Given the description of an element on the screen output the (x, y) to click on. 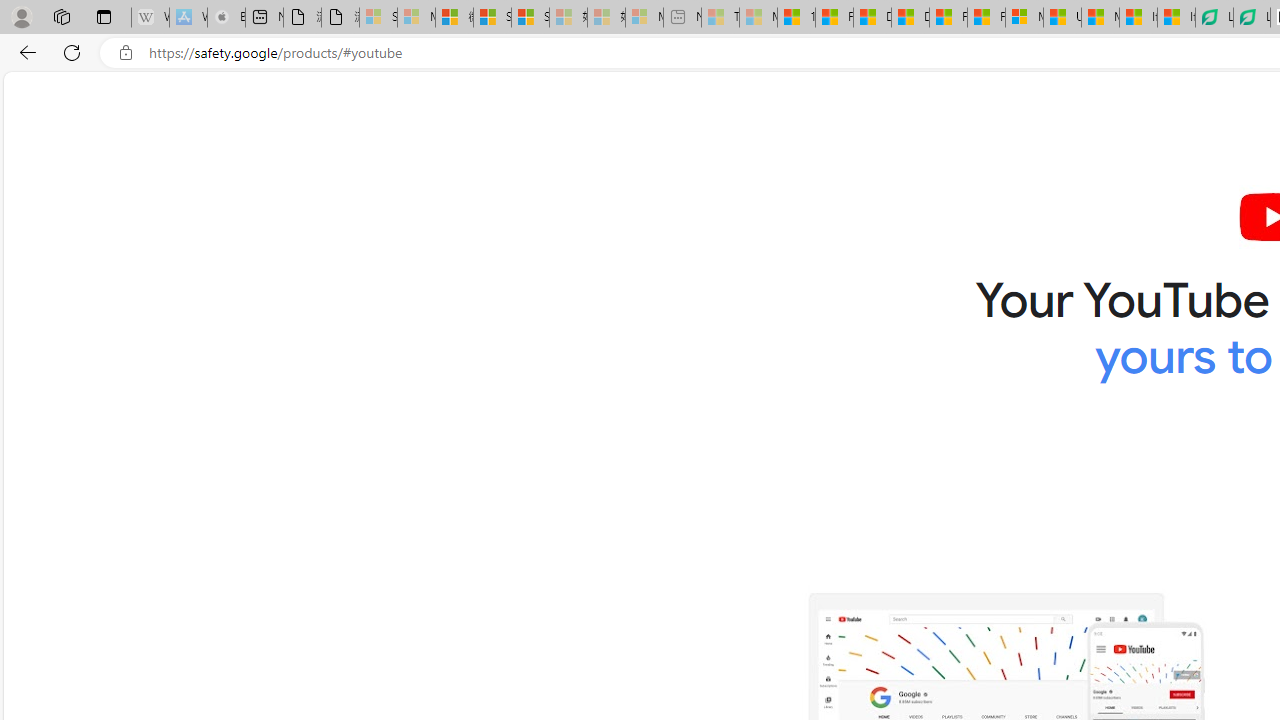
Drinking tea every day is proven to delay biological aging (910, 17)
Foo BAR | Trusted Community Engagement and Contributions (985, 17)
Buy iPad - Apple - Sleeping (225, 17)
Top Stories - MSN - Sleeping (719, 17)
